Given the description of an element on the screen output the (x, y) to click on. 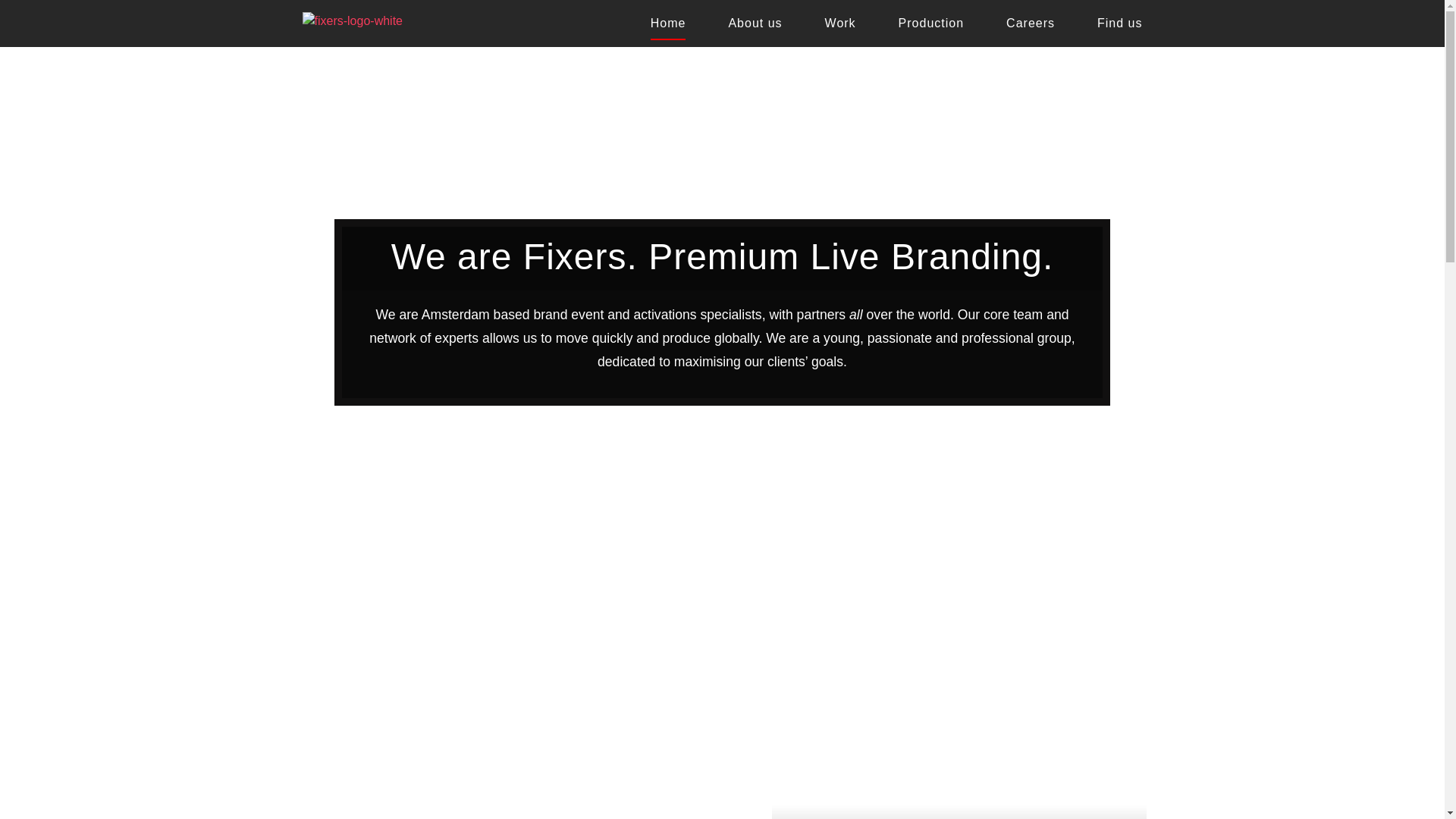
About us (754, 23)
Home (667, 27)
fixers-logo-white (521, 778)
Find us (351, 21)
Production (959, 778)
Work (1119, 23)
Careers (930, 23)
